Given the description of an element on the screen output the (x, y) to click on. 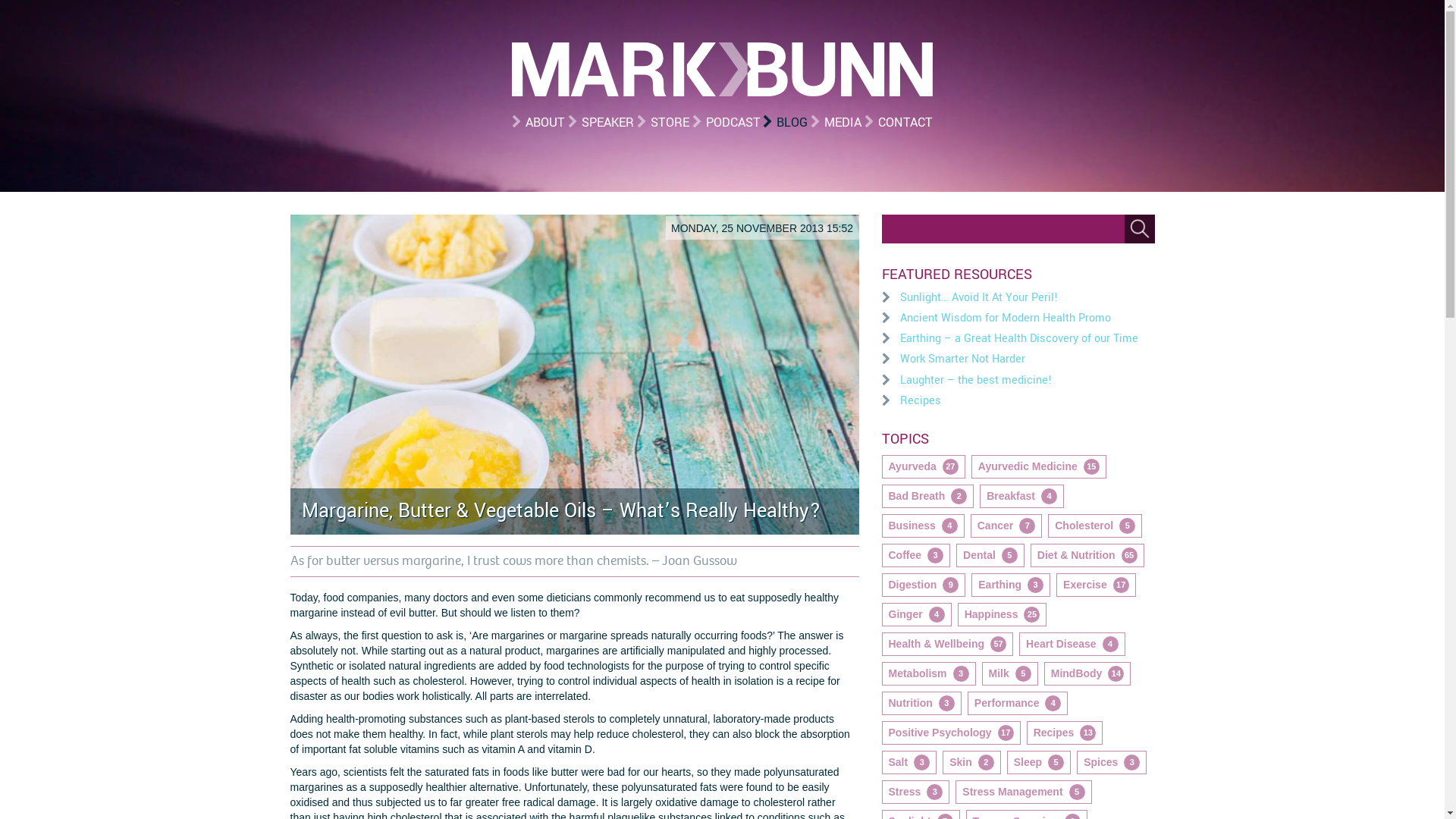
Ancient Wisdom for Modern Health Promo Element type: text (1004, 318)
Milk
5 Element type: text (1010, 673)
Exercise
17 Element type: text (1095, 584)
Happiness
25 Element type: text (1002, 614)
Coffee
3 Element type: text (915, 555)
Diet & Nutrition
65 Element type: text (1087, 555)
SPEAKER Element type: text (600, 122)
ABOUT Element type: text (537, 122)
BLOG Element type: text (784, 122)
MindBody
14 Element type: text (1087, 673)
Business
4 Element type: text (922, 525)
CONTACT Element type: text (898, 122)
Recipes
13 Element type: text (1064, 732)
Ayurvedic Medicine
15 Element type: text (1038, 466)
Recipes Element type: text (919, 400)
Metabolism
3 Element type: text (928, 673)
Stress
3 Element type: text (915, 791)
Cholesterol
5 Element type: text (1095, 525)
MEDIA Element type: text (835, 122)
Ayurveda
27 Element type: text (922, 466)
Stress Management
5 Element type: text (1023, 791)
Sleep
5 Element type: text (1038, 762)
Work Smarter Not Harder Element type: text (961, 359)
Dental
5 Element type: text (990, 555)
Bad Breath
2 Element type: text (927, 496)
Spices
3 Element type: text (1111, 762)
Breakfast
4 Element type: text (1021, 496)
Cancer
7 Element type: text (1005, 525)
Skin
2 Element type: text (971, 762)
Heart Disease
4 Element type: text (1072, 643)
Nutrition
3 Element type: text (920, 703)
PODCAST Element type: text (726, 122)
STORE Element type: text (663, 122)
Digestion
9 Element type: text (923, 584)
Salt
3 Element type: text (908, 762)
Ginger
4 Element type: text (915, 614)
Performance
4 Element type: text (1017, 703)
Positive Psychology
17 Element type: text (950, 732)
Health & Wellbeing
57 Element type: text (947, 643)
Earthing
3 Element type: text (1010, 584)
